Given the description of an element on the screen output the (x, y) to click on. 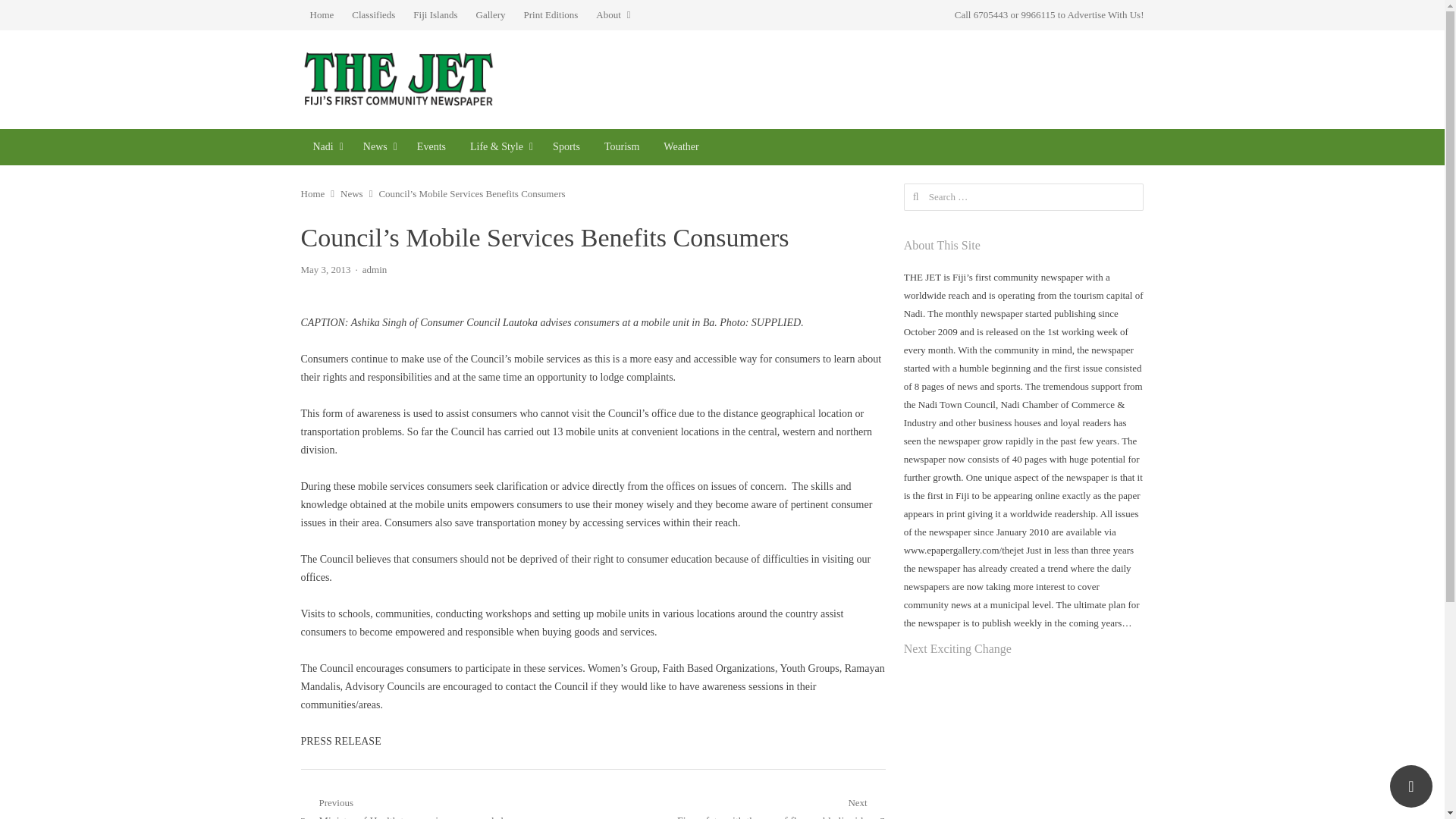
Nadi (324, 146)
News (351, 193)
Sports (566, 146)
Weather (680, 146)
Search (25, 13)
Print Editions (549, 14)
Classifieds (373, 14)
About (612, 14)
Scroll to top (1411, 785)
admin (374, 269)
scroll to top (1411, 785)
News (377, 146)
Gallery (491, 14)
Fiji Islands (434, 14)
